Given the description of an element on the screen output the (x, y) to click on. 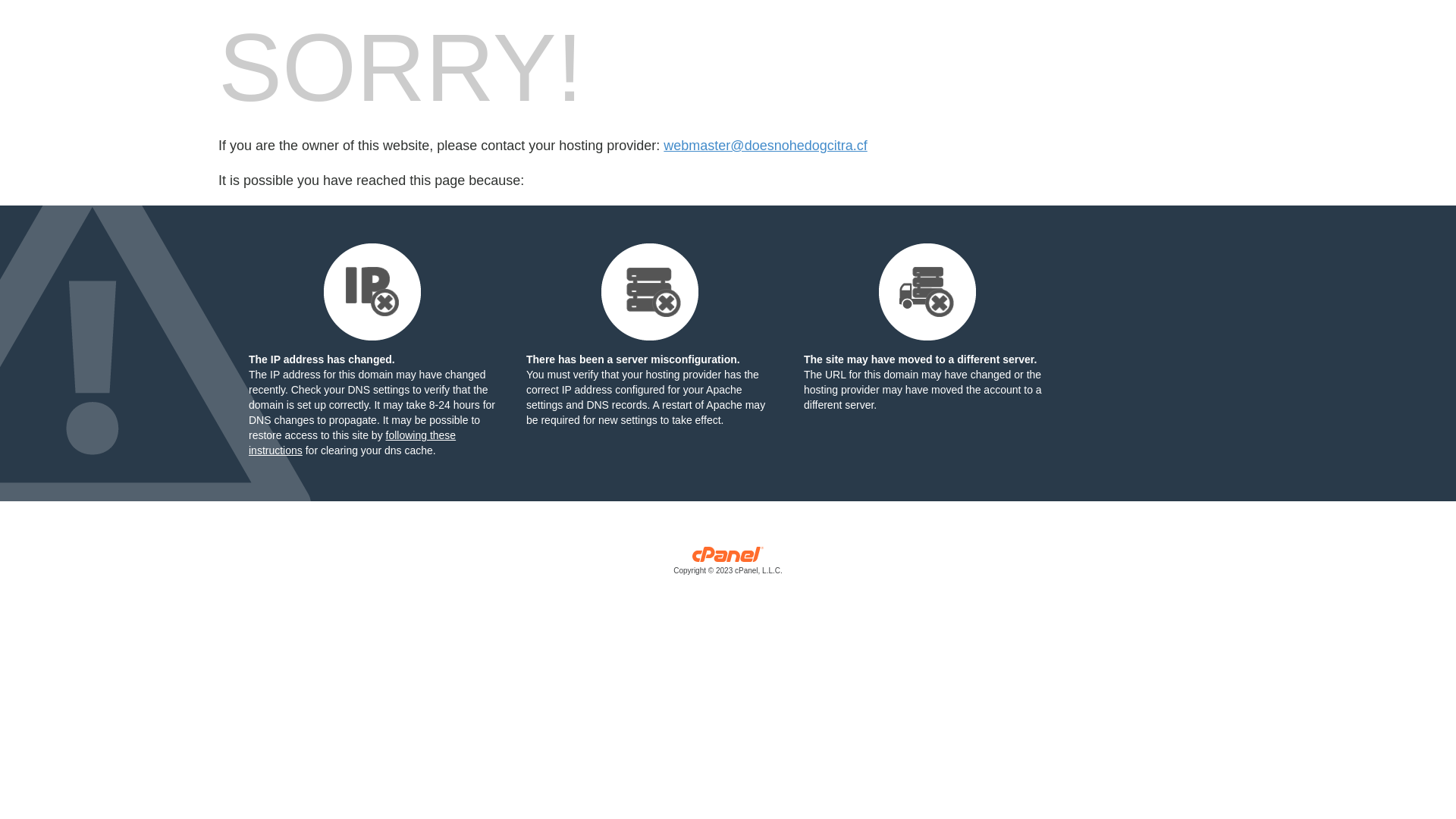
webmaster@doesnohedogcitra.cf Element type: text (764, 145)
following these instructions Element type: text (351, 442)
